Given the description of an element on the screen output the (x, y) to click on. 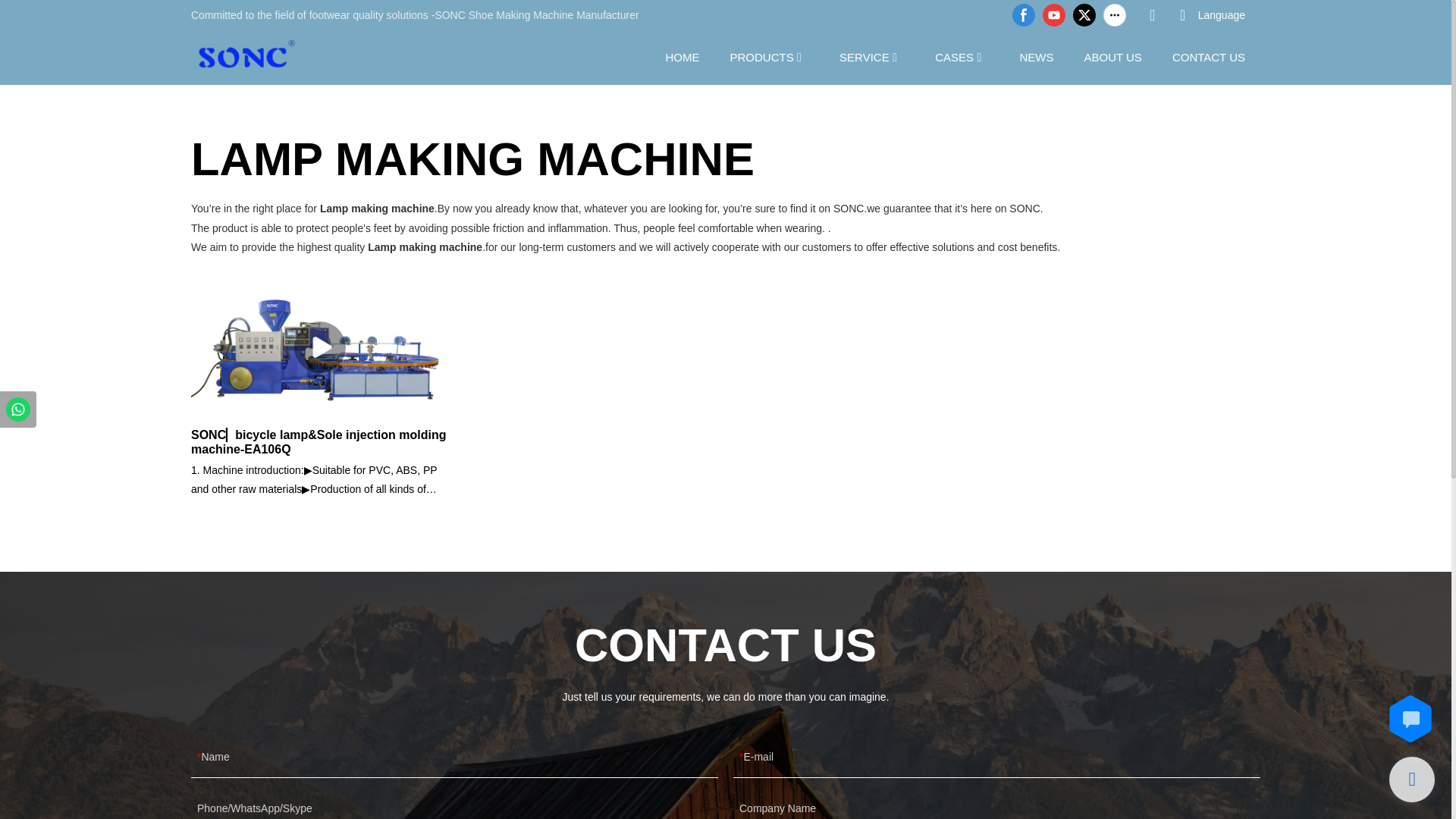
SERVICE (864, 56)
CASES (954, 56)
ABOUT US (1112, 56)
PRODUCTS (761, 56)
youtube (1053, 15)
twitter (1083, 15)
NEWS (1035, 56)
CONTACT US (1208, 56)
HOME (681, 56)
facebook (1024, 15)
